Given the description of an element on the screen output the (x, y) to click on. 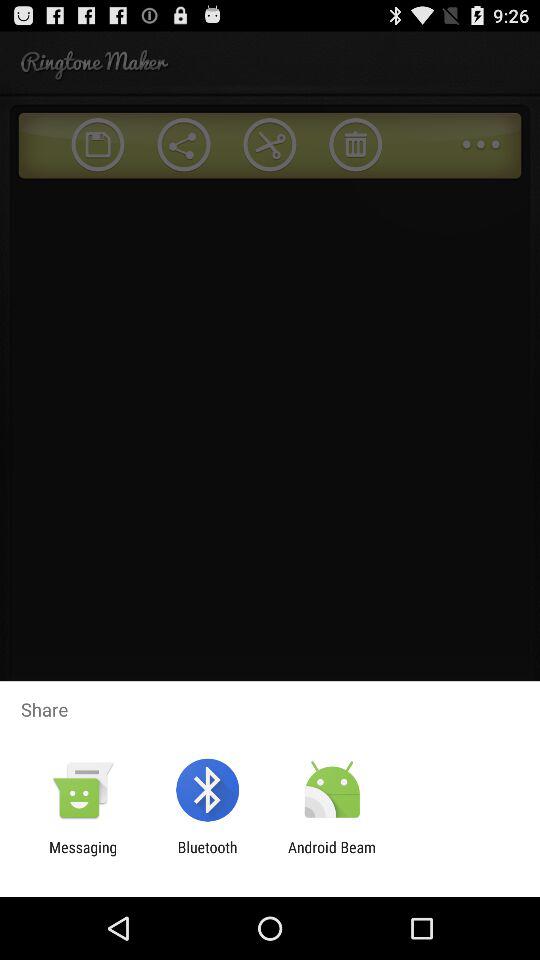
click app next to the bluetooth icon (83, 856)
